Given the description of an element on the screen output the (x, y) to click on. 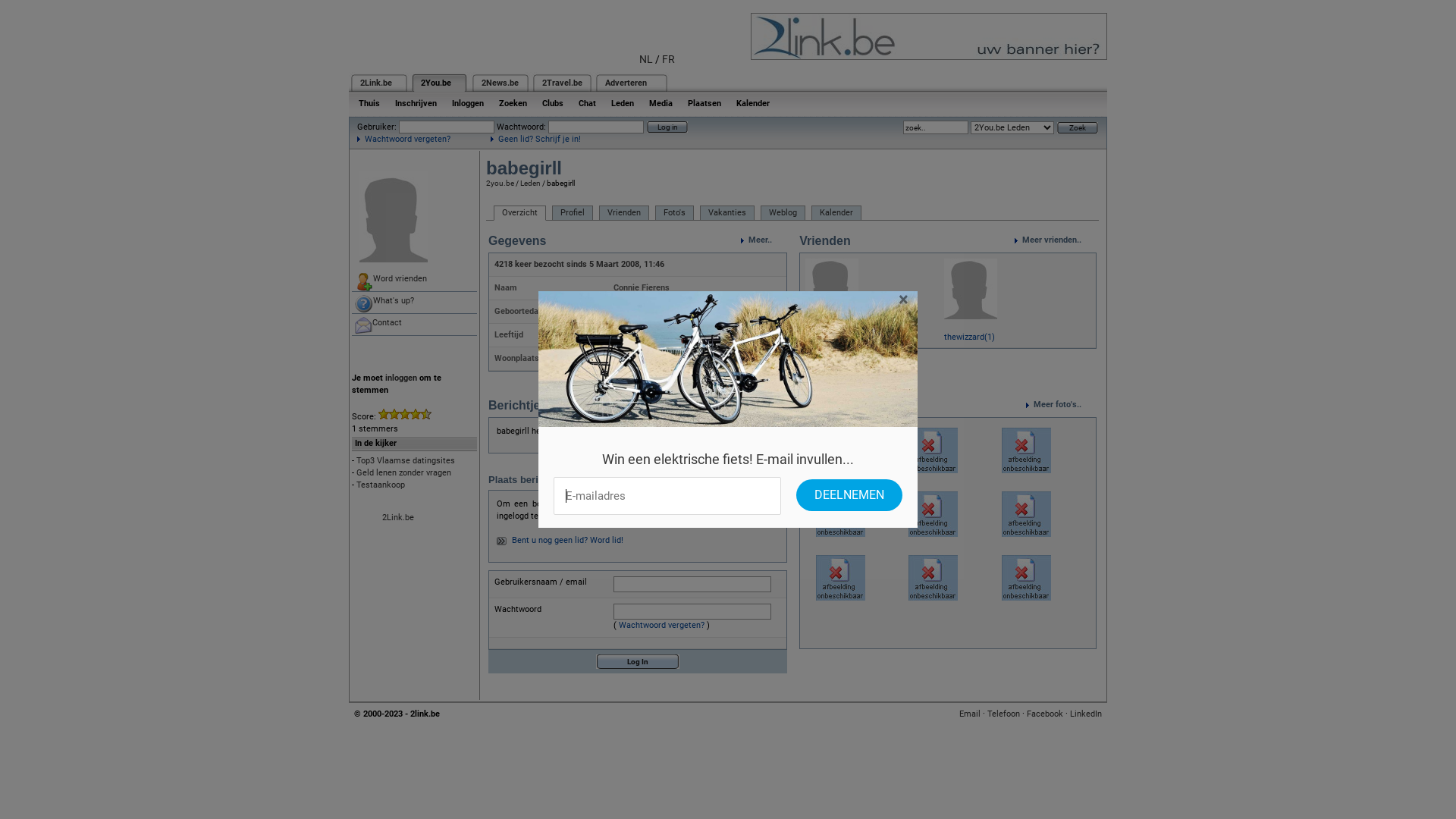
Log In Element type: text (637, 661)
Kalender Element type: text (752, 103)
Inloggen Element type: text (467, 103)
2You.be Element type: text (435, 82)
Zoek Element type: text (1077, 126)
Weblog Element type: text (782, 212)
C4Yourself(86) Element type: text (833, 337)
Meer foto's.. Element type: text (1061, 404)
Vrienden Element type: text (624, 212)
Profiel Element type: text (572, 212)
Chat Element type: text (587, 103)
Geen lid? Schrijf je in! Element type: text (535, 139)
Email Element type: text (969, 713)
Wachtwoord vergeten? Element type: text (403, 139)
Plaatsen Element type: text (704, 103)
thewizzard(1) Element type: text (969, 337)
Meer vrienden.. Element type: text (1055, 240)
Wachtwoord vergeten? Element type: text (661, 625)
2News.be Element type: text (499, 82)
Adverteren Element type: text (625, 82)
2Link.be Element type: text (376, 82)
Bent u nog geen lid? Word lid! Element type: text (567, 540)
Geld lenen zonder vragen Element type: text (403, 472)
Foto's Element type: text (674, 212)
Inschrijven Element type: text (415, 103)
Clubs Element type: text (552, 103)
Leden Element type: text (622, 103)
FR Element type: text (668, 59)
Log in Element type: text (666, 126)
Telefoon Element type: text (1003, 713)
Facebook Element type: text (1044, 713)
Media Element type: text (660, 103)
Overzicht Element type: text (519, 212)
2Travel.be Element type: text (562, 82)
inloggen Element type: text (401, 377)
NL Element type: text (645, 59)
Vakanties Element type: text (726, 212)
Contact Element type: text (413, 324)
Leden Element type: text (530, 182)
2you.be Element type: text (500, 182)
Top3 Vlaamse datingsites Element type: text (405, 460)
Word vrienden Element type: text (413, 280)
Testaankoop Element type: text (380, 484)
LinkedIn Element type: text (1085, 713)
Thuis Element type: text (369, 103)
Kalender Element type: text (836, 212)
Zoeken Element type: text (512, 103)
Meer.. Element type: text (763, 240)
What's up? Element type: text (413, 302)
2Link.be Element type: text (398, 517)
